Given the description of an element on the screen output the (x, y) to click on. 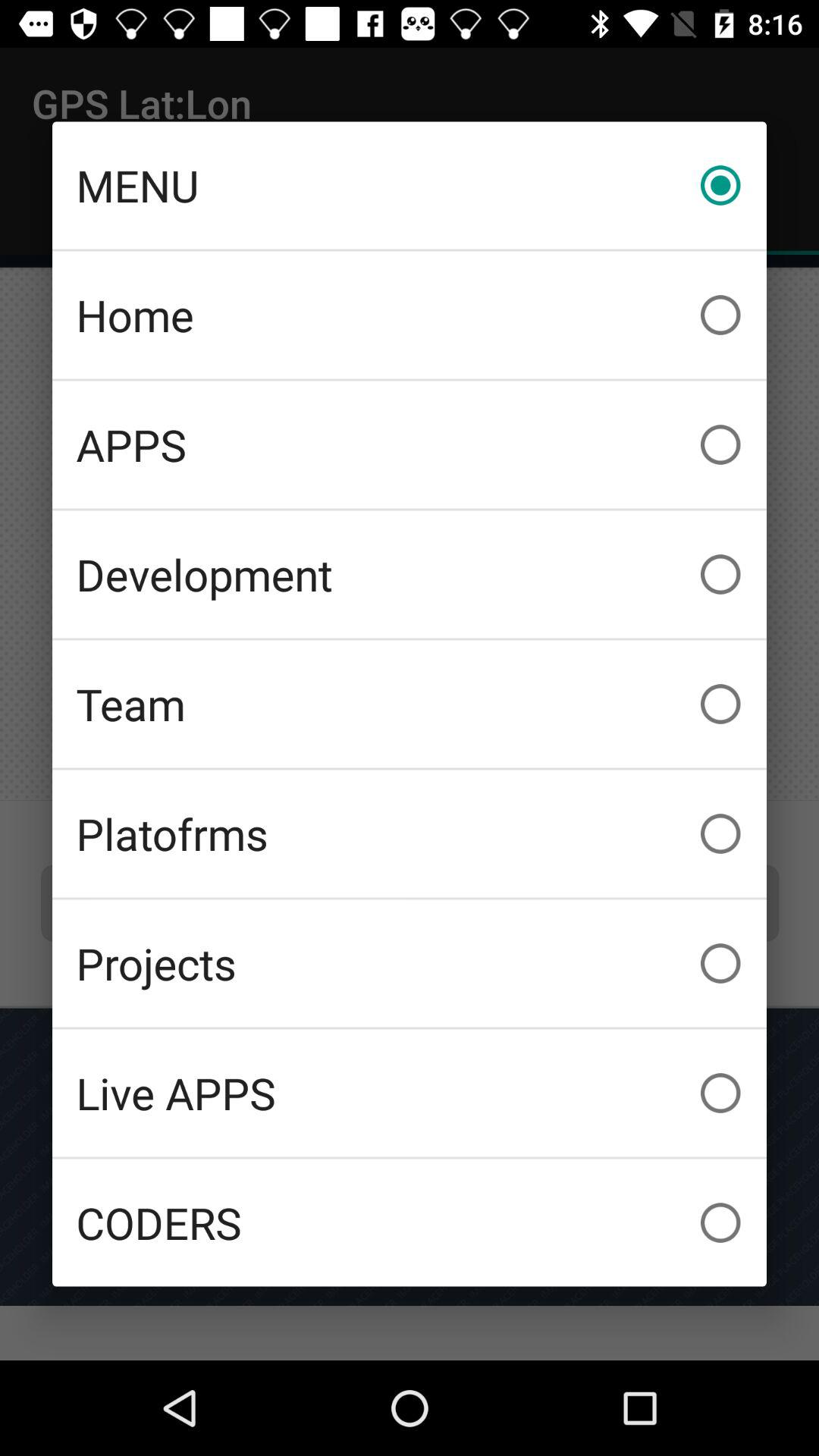
select the item below menu (409, 314)
